Given the description of an element on the screen output the (x, y) to click on. 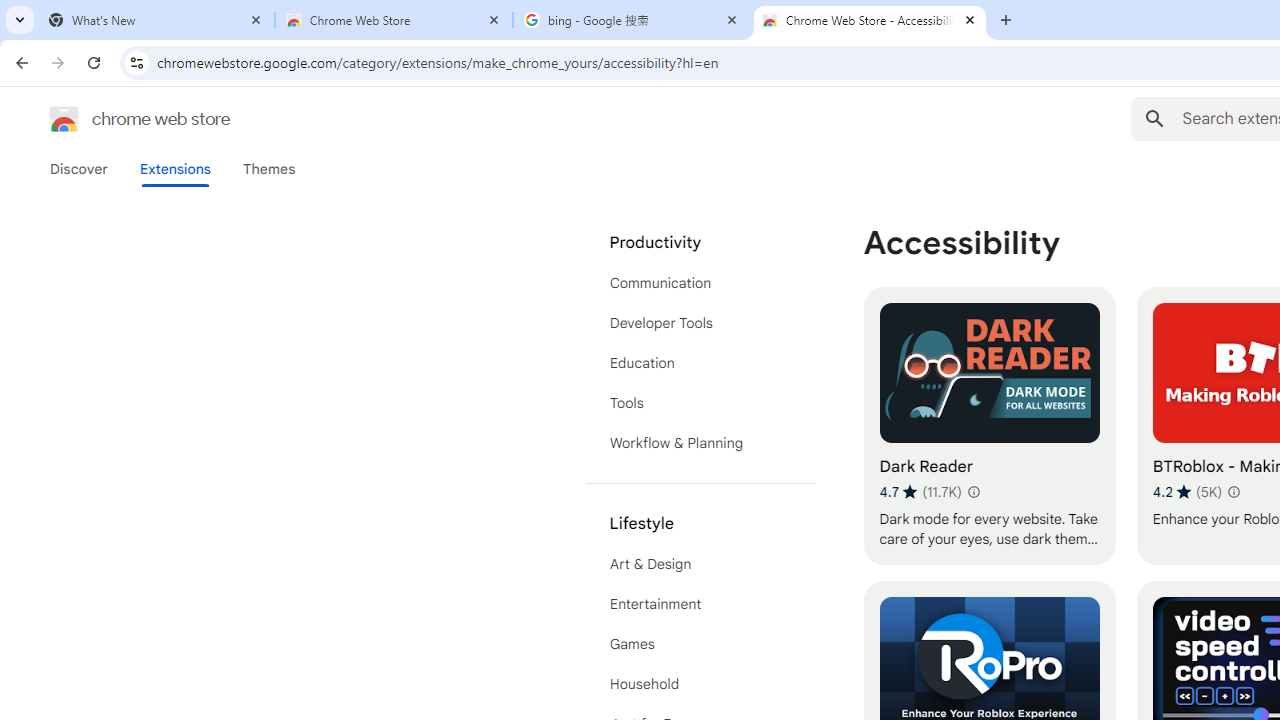
Discover (79, 169)
